Given the description of an element on the screen output the (x, y) to click on. 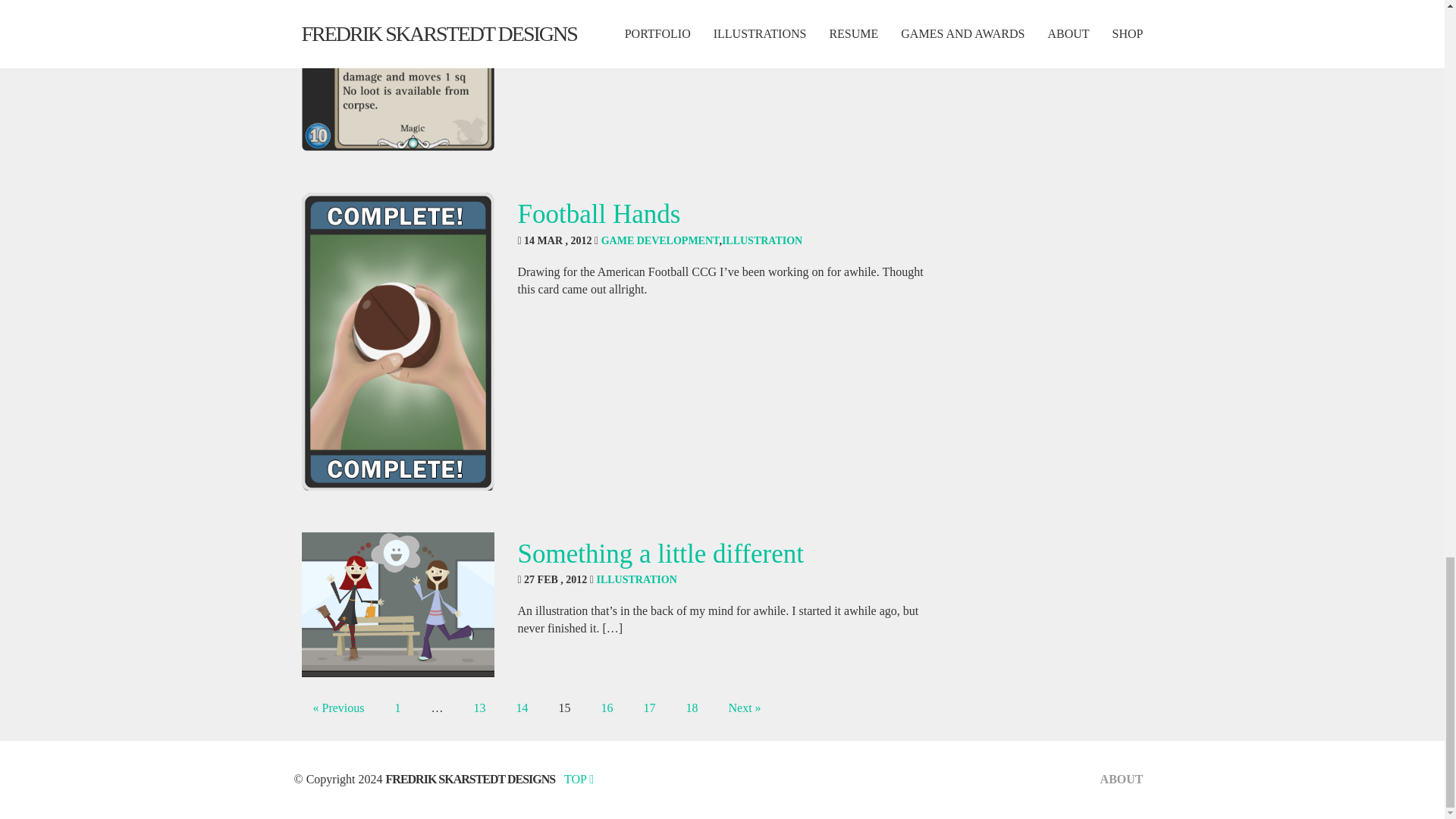
Football Hands (597, 214)
GAME DEVELOPMENT (660, 240)
ILLUSTRATION (762, 240)
